Given the description of an element on the screen output the (x, y) to click on. 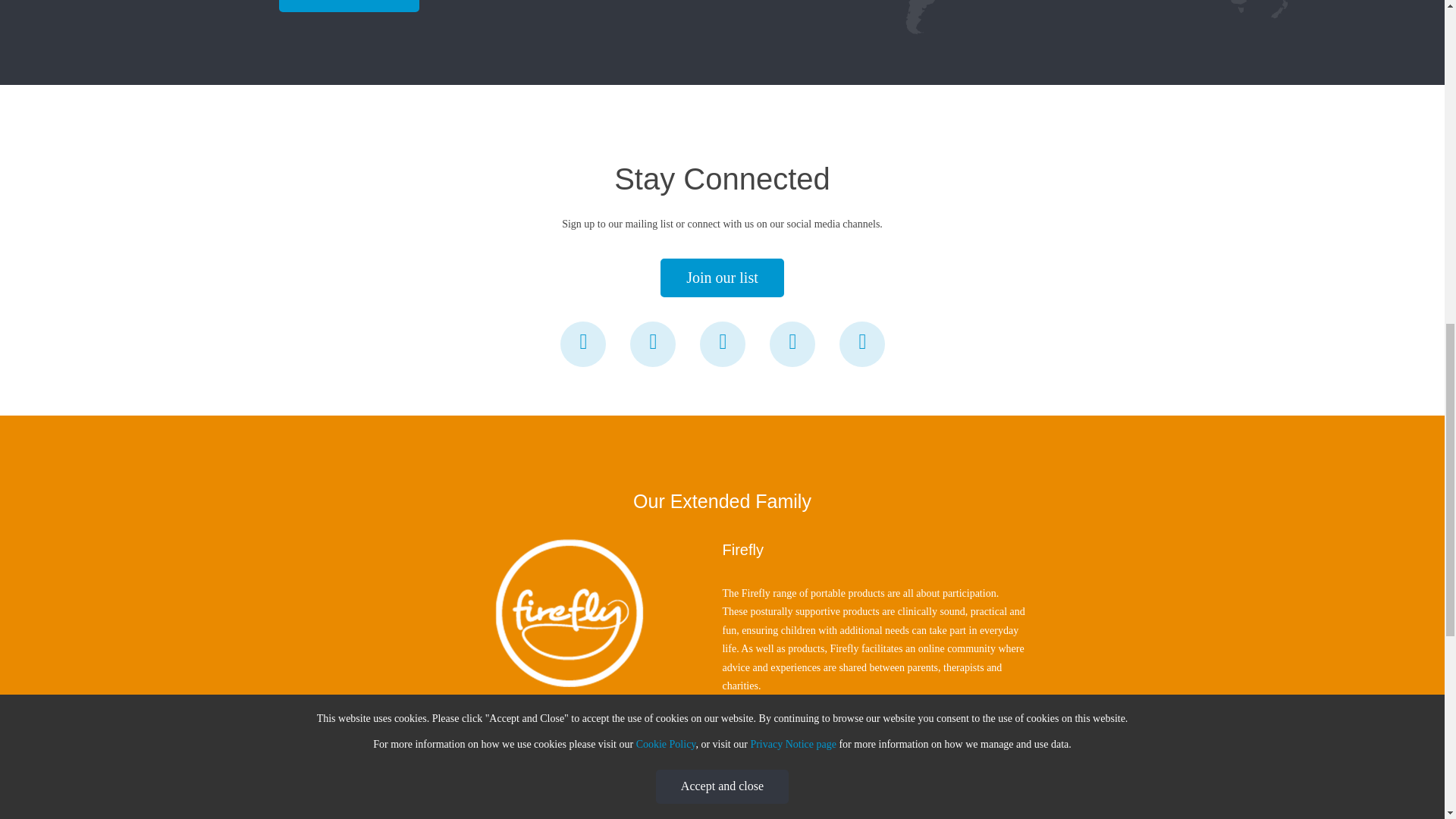
FireflyBottomBanner.png (570, 611)
FireflyBottomBanner.png (570, 612)
